Given the description of an element on the screen output the (x, y) to click on. 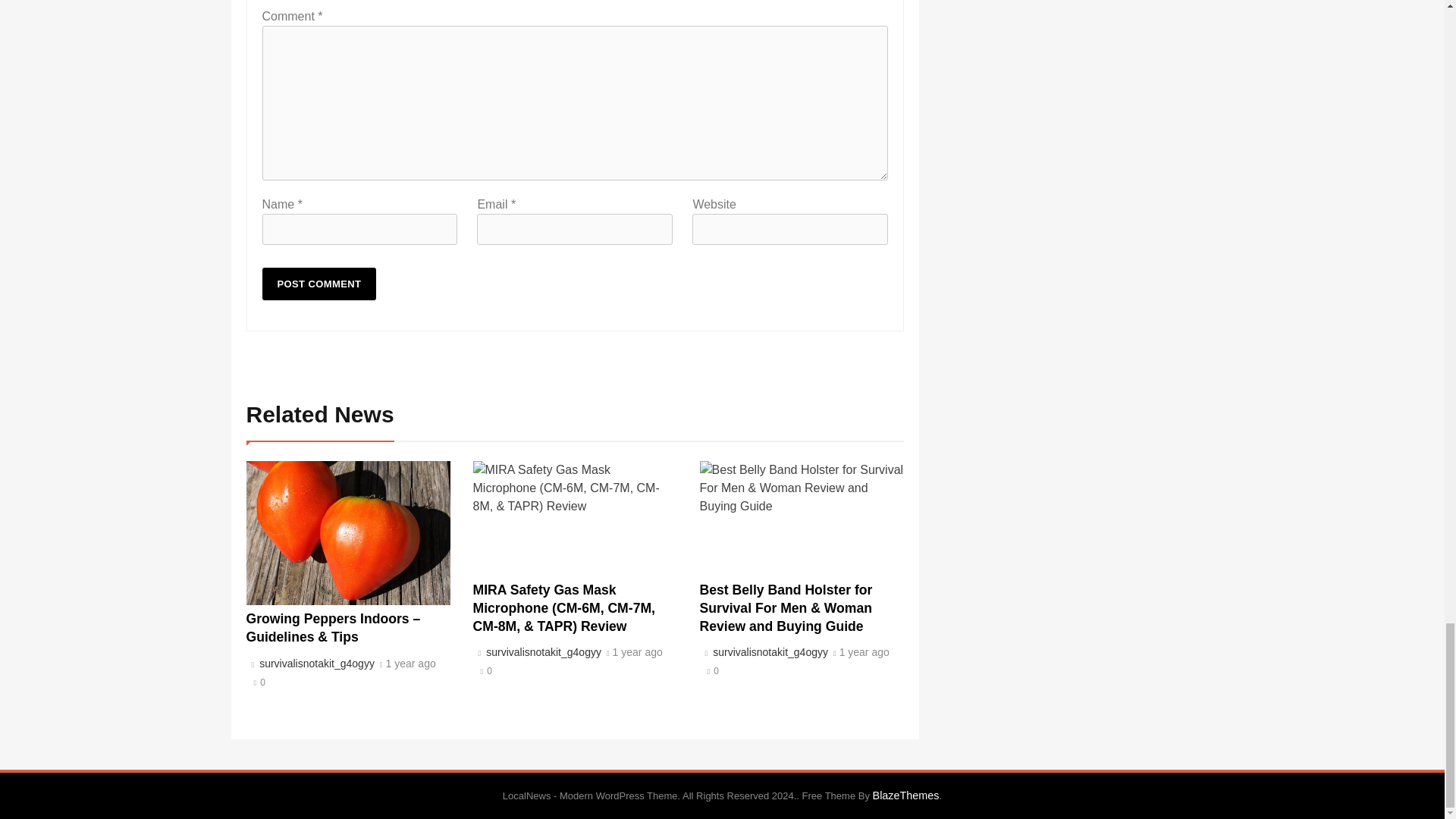
Post Comment (319, 283)
Post Comment (319, 283)
1 year ago (637, 652)
1 year ago (410, 664)
